Given the description of an element on the screen output the (x, y) to click on. 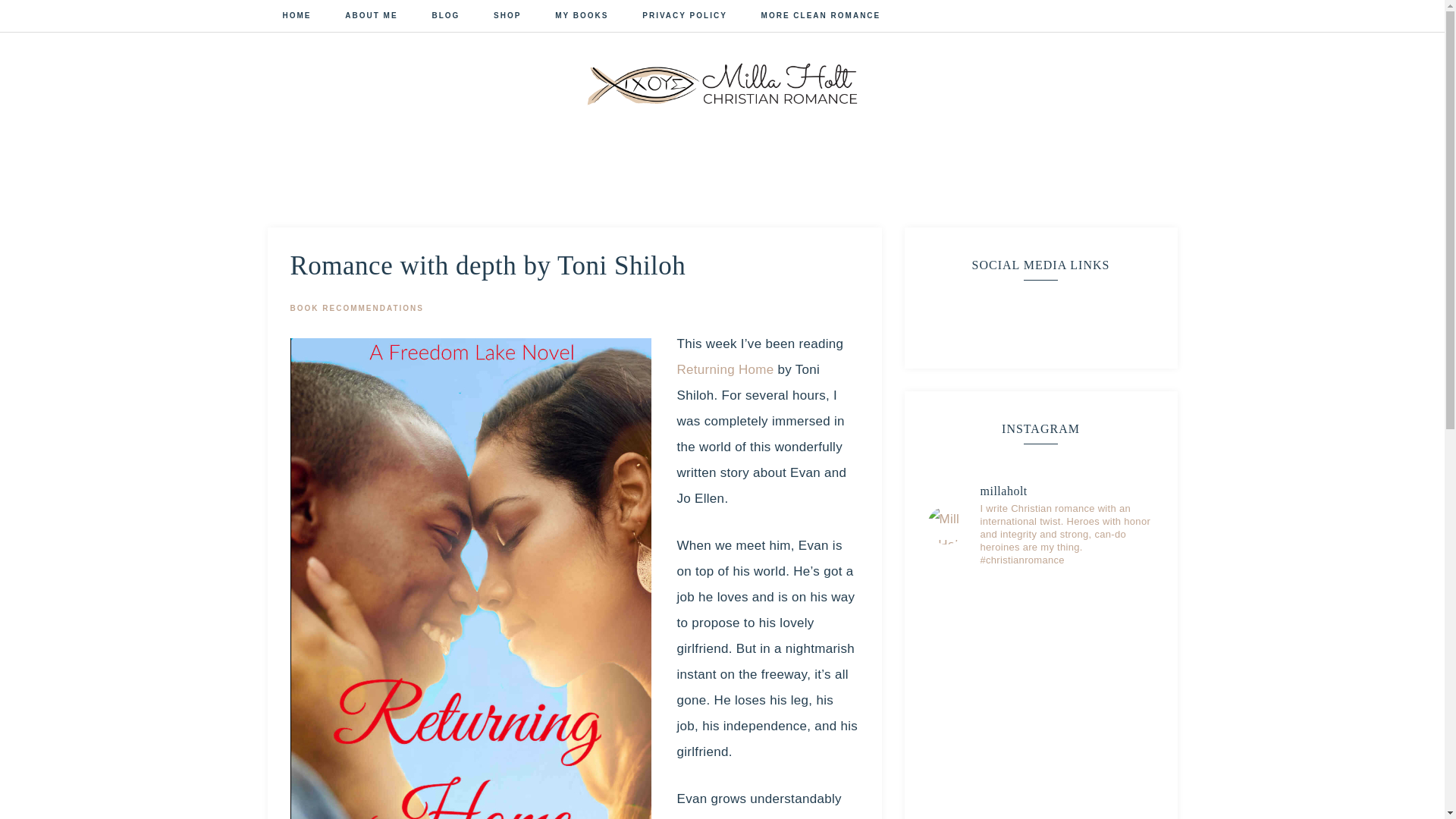
HOME (296, 17)
MORE CLEAN ROMANCE (820, 17)
MY BOOKS (581, 17)
BLOG (445, 17)
PRIVACY POLICY (684, 17)
SHOP (507, 17)
BOOK RECOMMENDATIONS (356, 307)
Returning Home (725, 369)
ABOUT ME (371, 17)
